Given the description of an element on the screen output the (x, y) to click on. 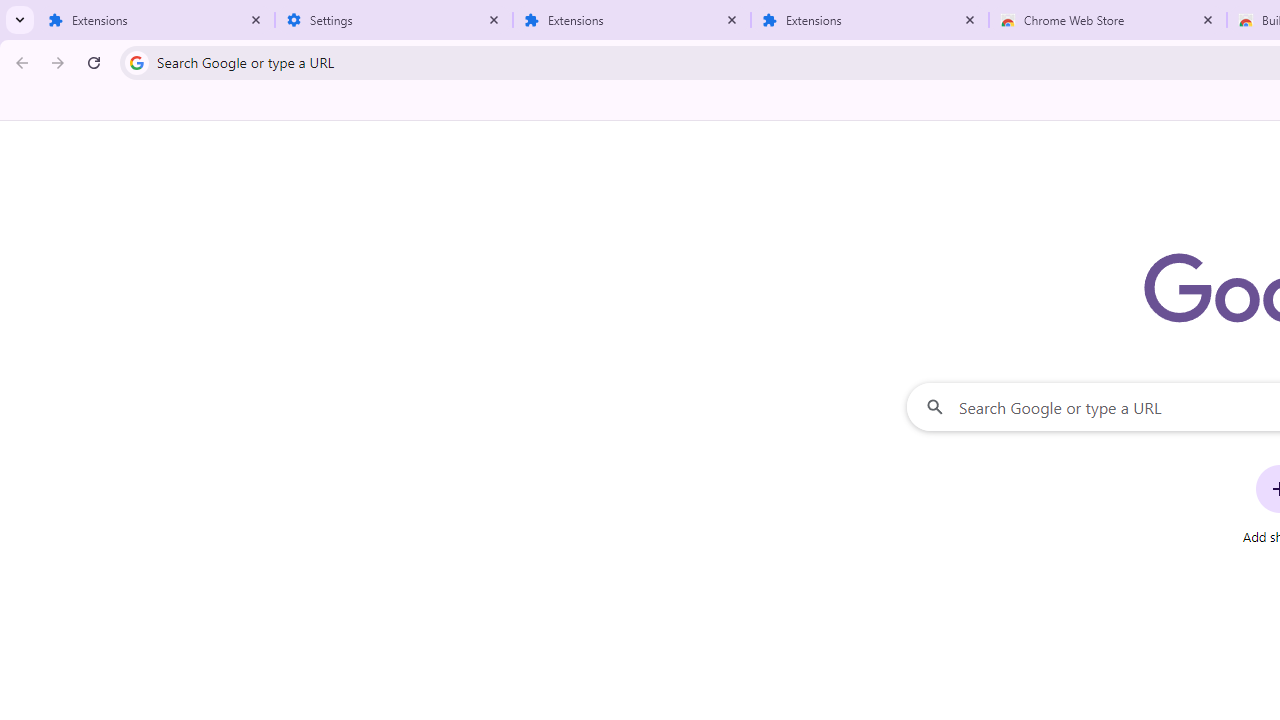
Search icon (136, 62)
Settings (394, 20)
Extensions (156, 20)
Chrome Web Store (1108, 20)
Extensions (632, 20)
Extensions (870, 20)
